Given the description of an element on the screen output the (x, y) to click on. 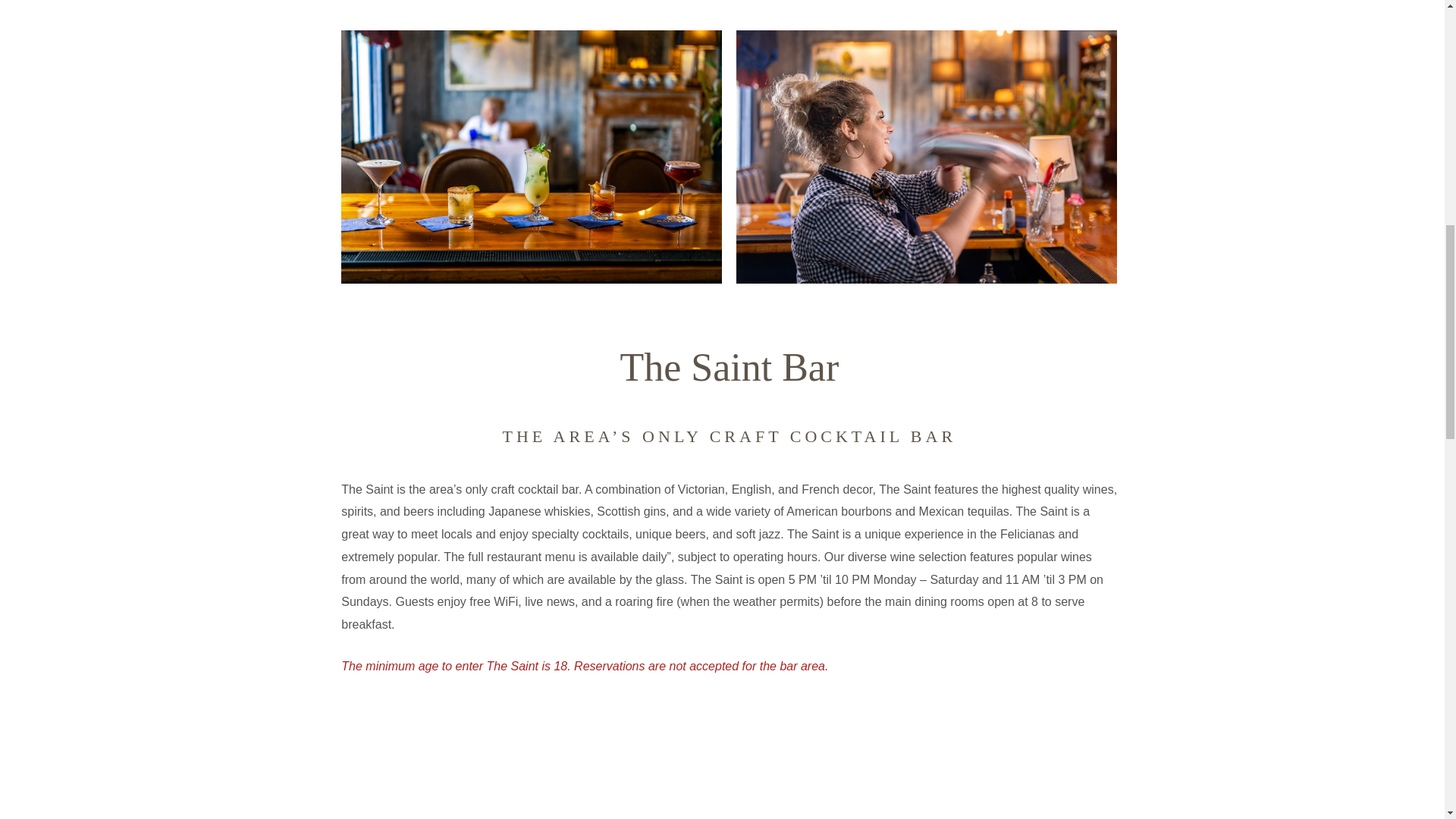
StFrancisville Inn 297 (531, 156)
StFrancisville Inn 353 (926, 156)
StFrancisville Inn 289 (728, 773)
